Given the description of an element on the screen output the (x, y) to click on. 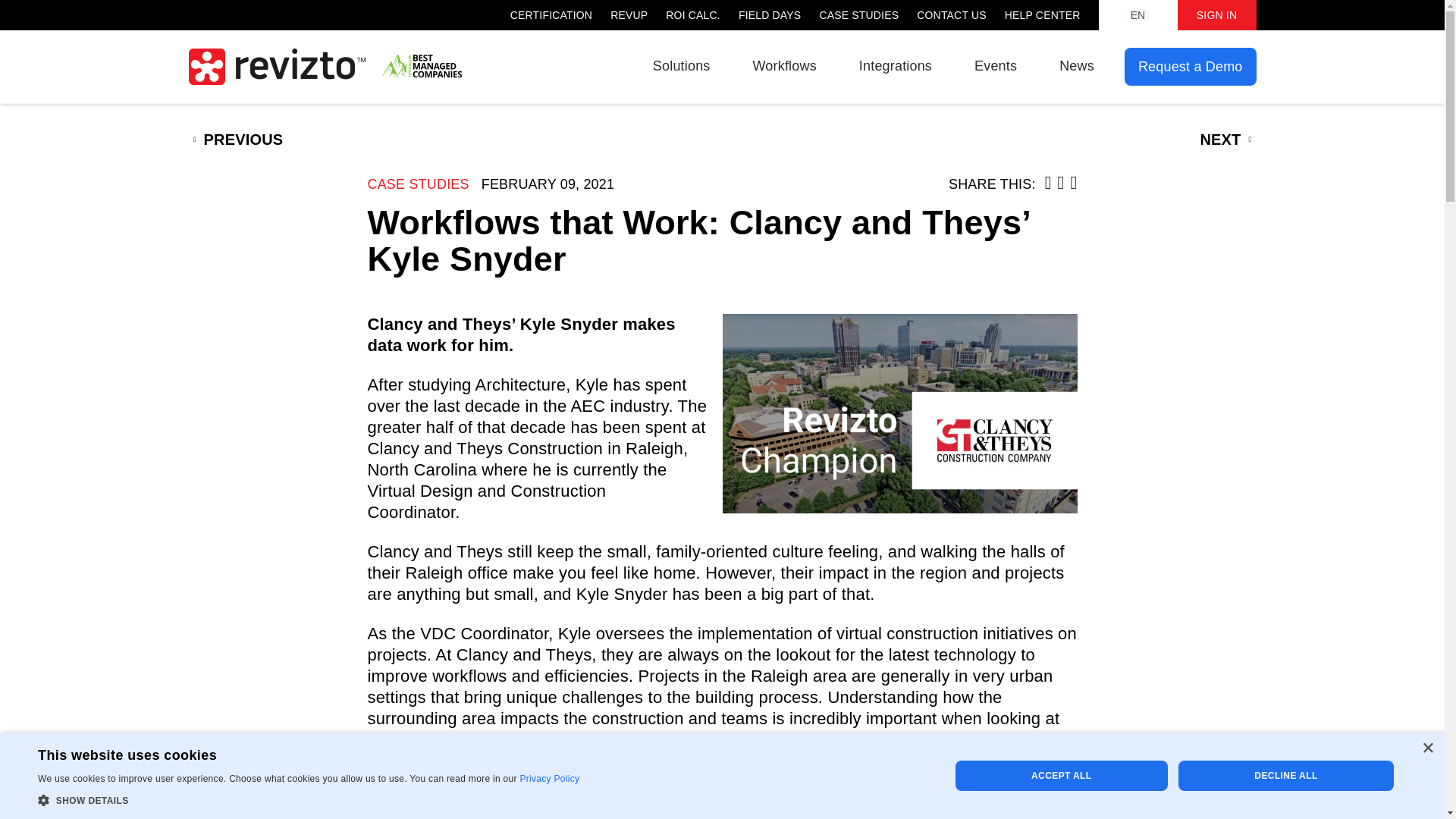
FIELD DAYS (769, 14)
ROI CALC. (692, 14)
CONTACT US (952, 14)
Integrations (895, 65)
REVUP (628, 14)
CASE STUDIES (417, 184)
News (1076, 65)
SIGN IN (1216, 14)
CERTIFICATION (551, 14)
Events (995, 65)
HELP CENTER (1042, 14)
Workflows (784, 65)
Solutions (681, 65)
PREVIOUS (234, 139)
Request a Demo (1190, 66)
